Given the description of an element on the screen output the (x, y) to click on. 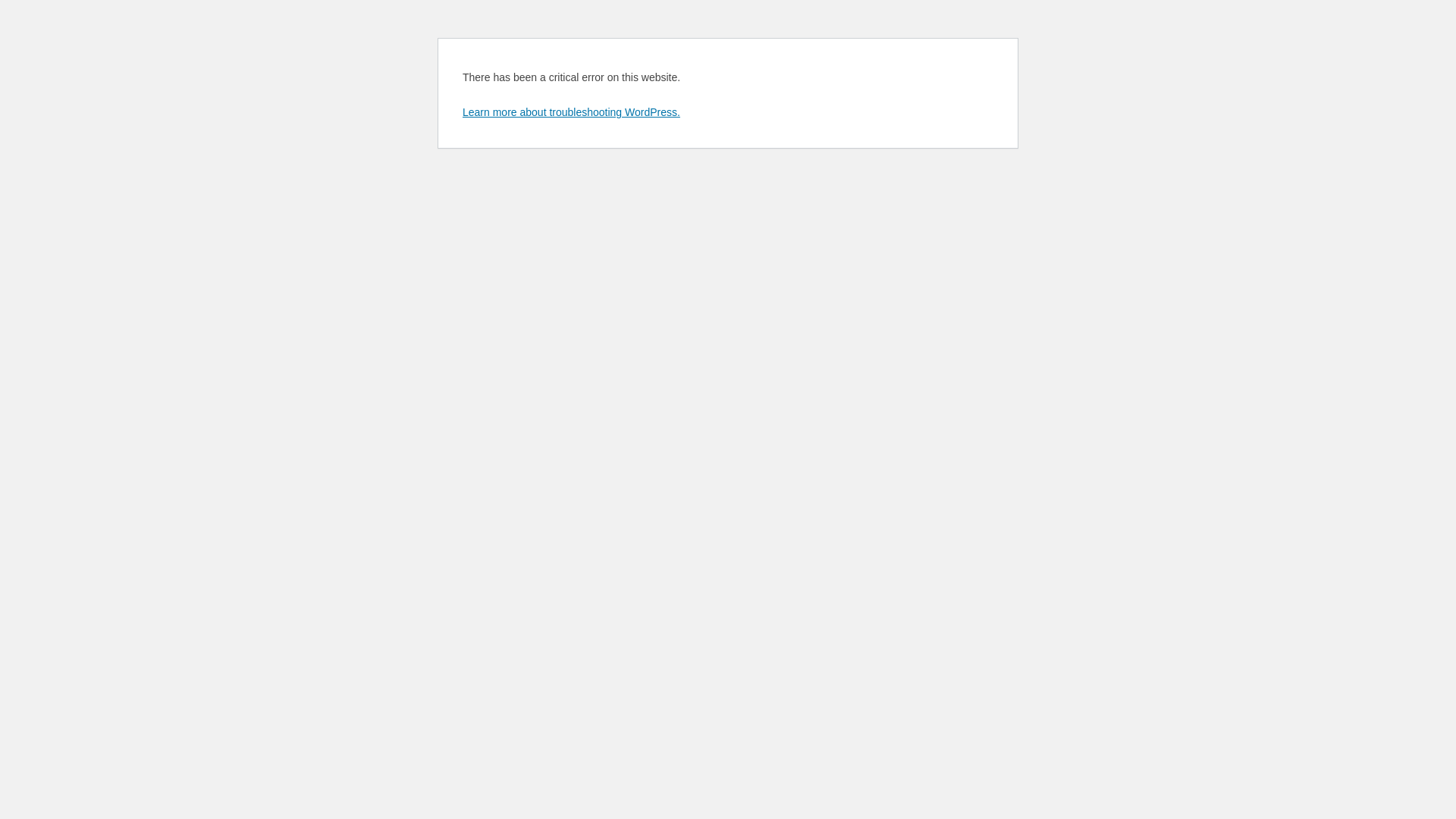
Learn more about troubleshooting WordPress. Element type: text (571, 112)
